Given the description of an element on the screen output the (x, y) to click on. 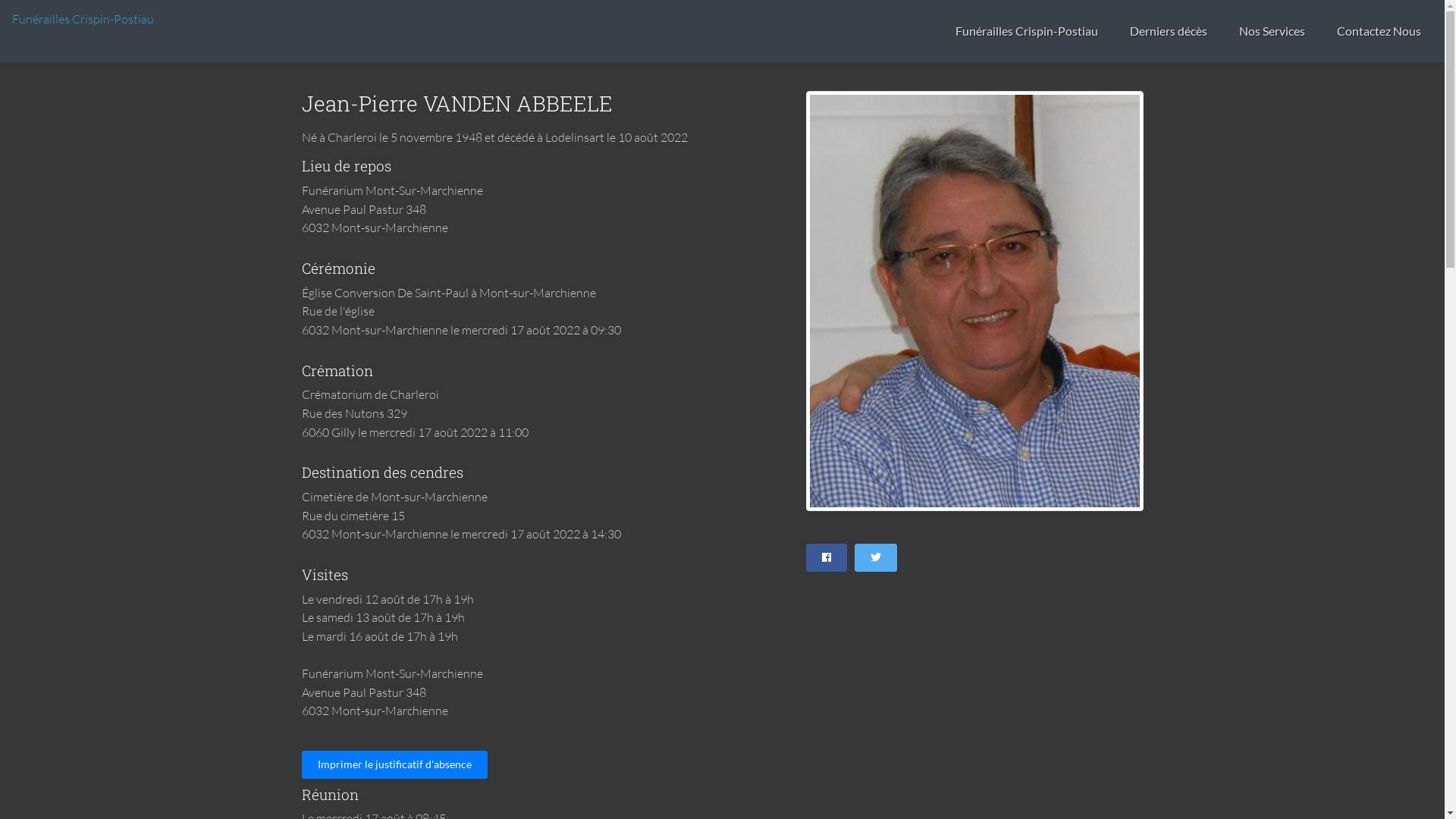
Nos Services Element type: text (1271, 31)
Imprimer le justificatif d'absence Element type: text (394, 764)
Contactez Nous Element type: text (1378, 31)
